Given the description of an element on the screen output the (x, y) to click on. 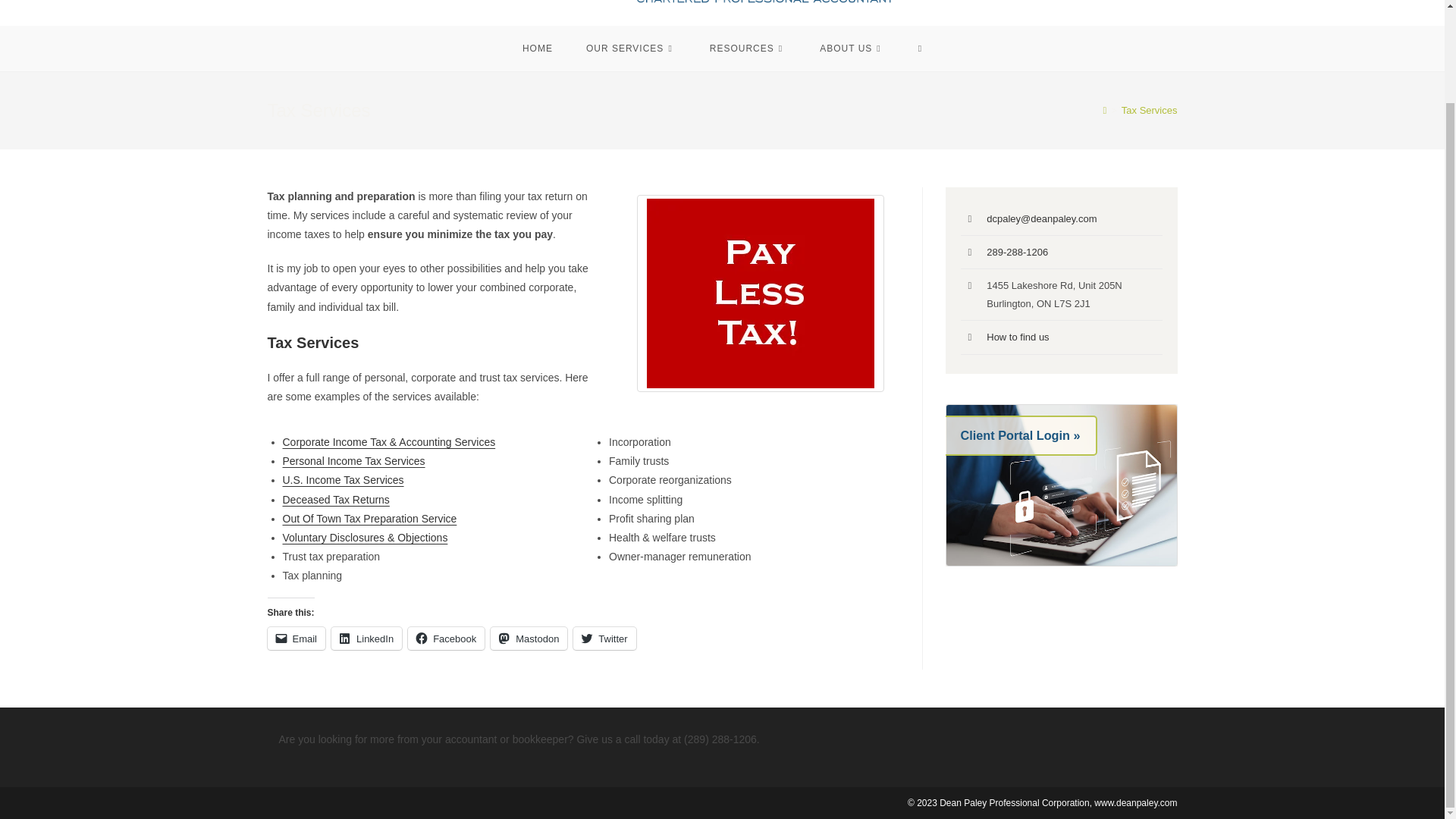
Click to share on LinkedIn (366, 638)
Click to share on Facebook (445, 638)
HOME (537, 48)
RESOURCES (748, 48)
Click to email a link to a friend (295, 638)
Click to share on Mastodon (528, 638)
OUR SERVICES (631, 48)
Click to share on Twitter (603, 638)
ABOUT US (852, 48)
